Given the description of an element on the screen output the (x, y) to click on. 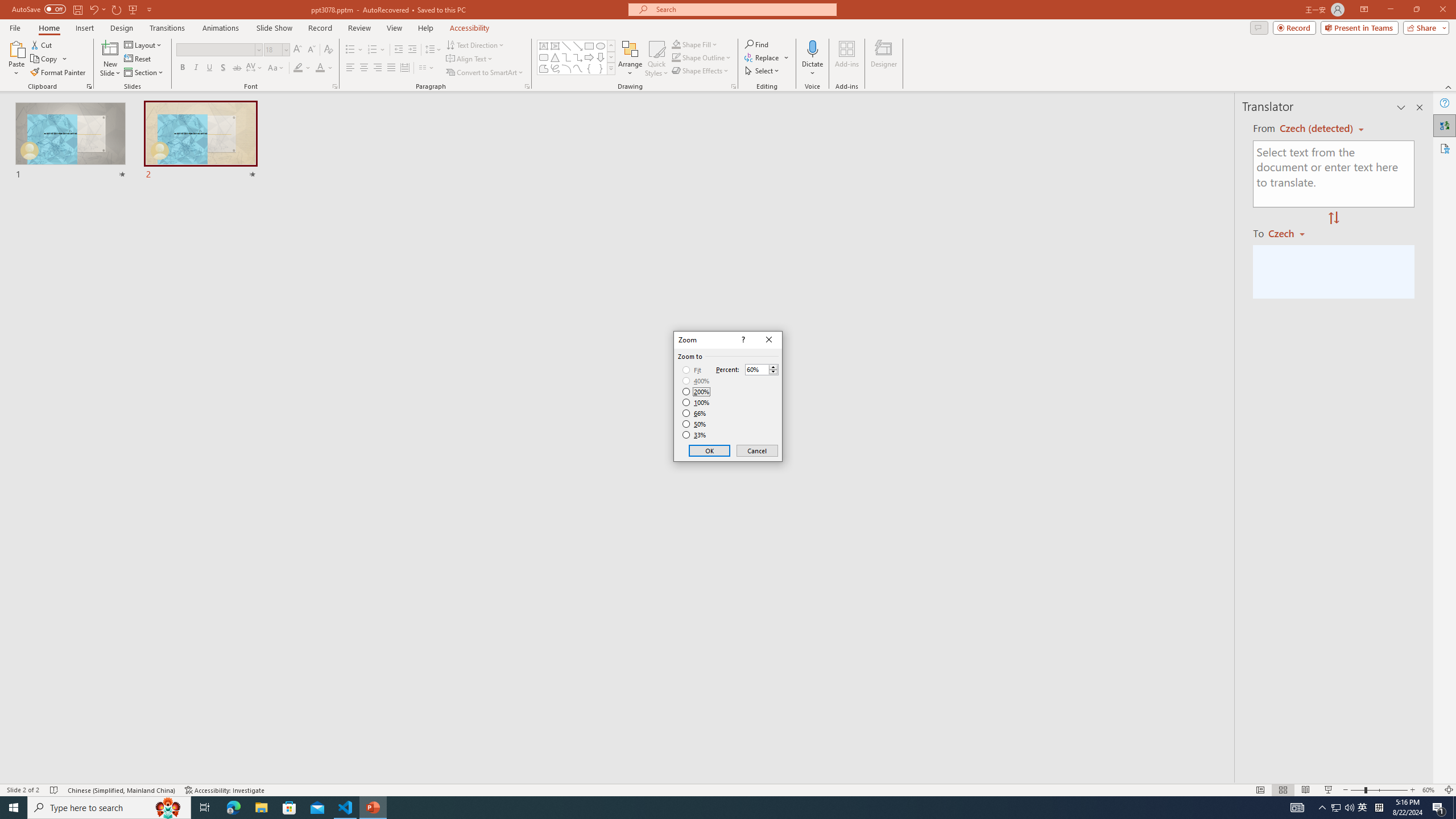
66% (694, 412)
100% (696, 402)
